Given the description of an element on the screen output the (x, y) to click on. 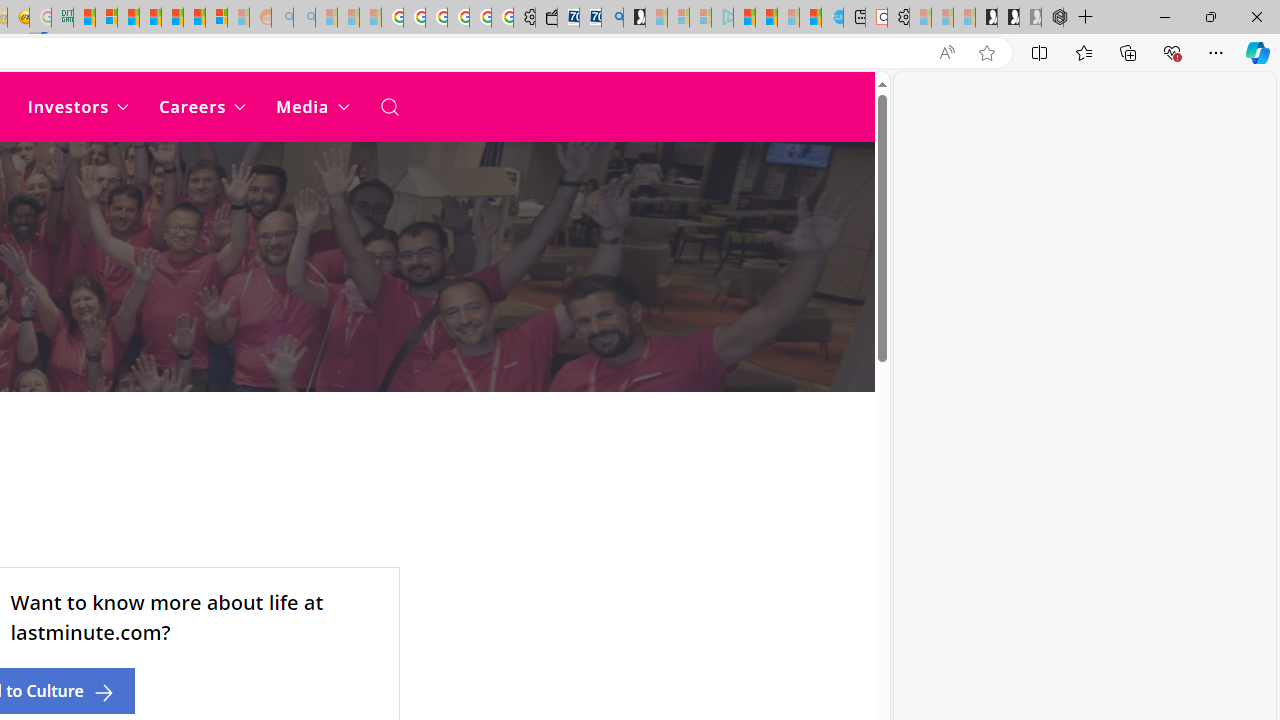
Media (312, 106)
Media (312, 106)
Careers (202, 106)
Student Loan Update: Forgiveness Program Ends This Month (150, 17)
